Given the description of an element on the screen output the (x, y) to click on. 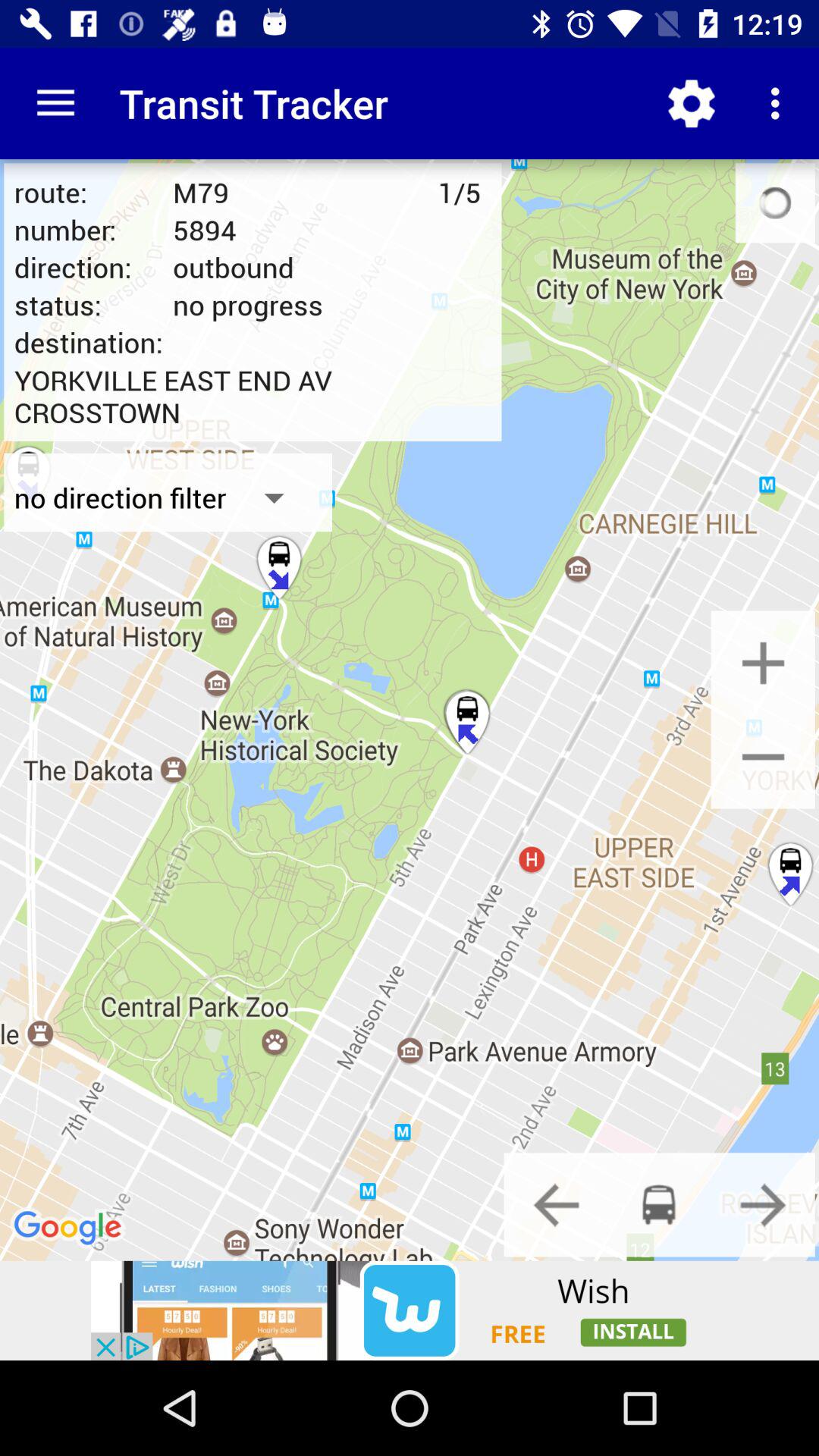
go to increace (762, 662)
